Given the description of an element on the screen output the (x, y) to click on. 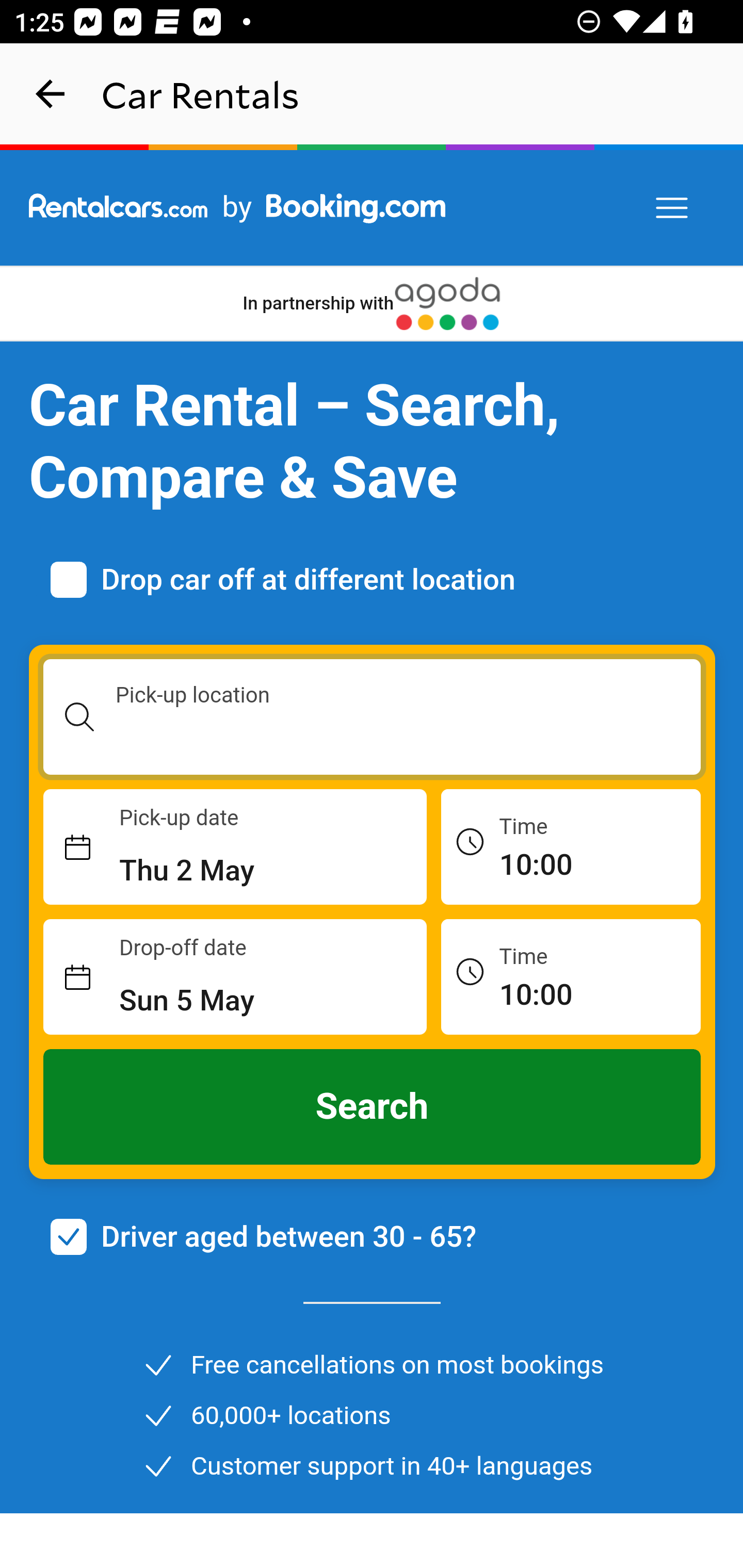
navigation_button (50, 93)
Menu (672, 208)
Pick-up location (372, 717)
Pick-up date Thu 2 May (235, 847)
10:00 (571, 845)
Drop-off date Sun 5 May (235, 977)
10:00 (571, 975)
Search (372, 1106)
